Given the description of an element on the screen output the (x, y) to click on. 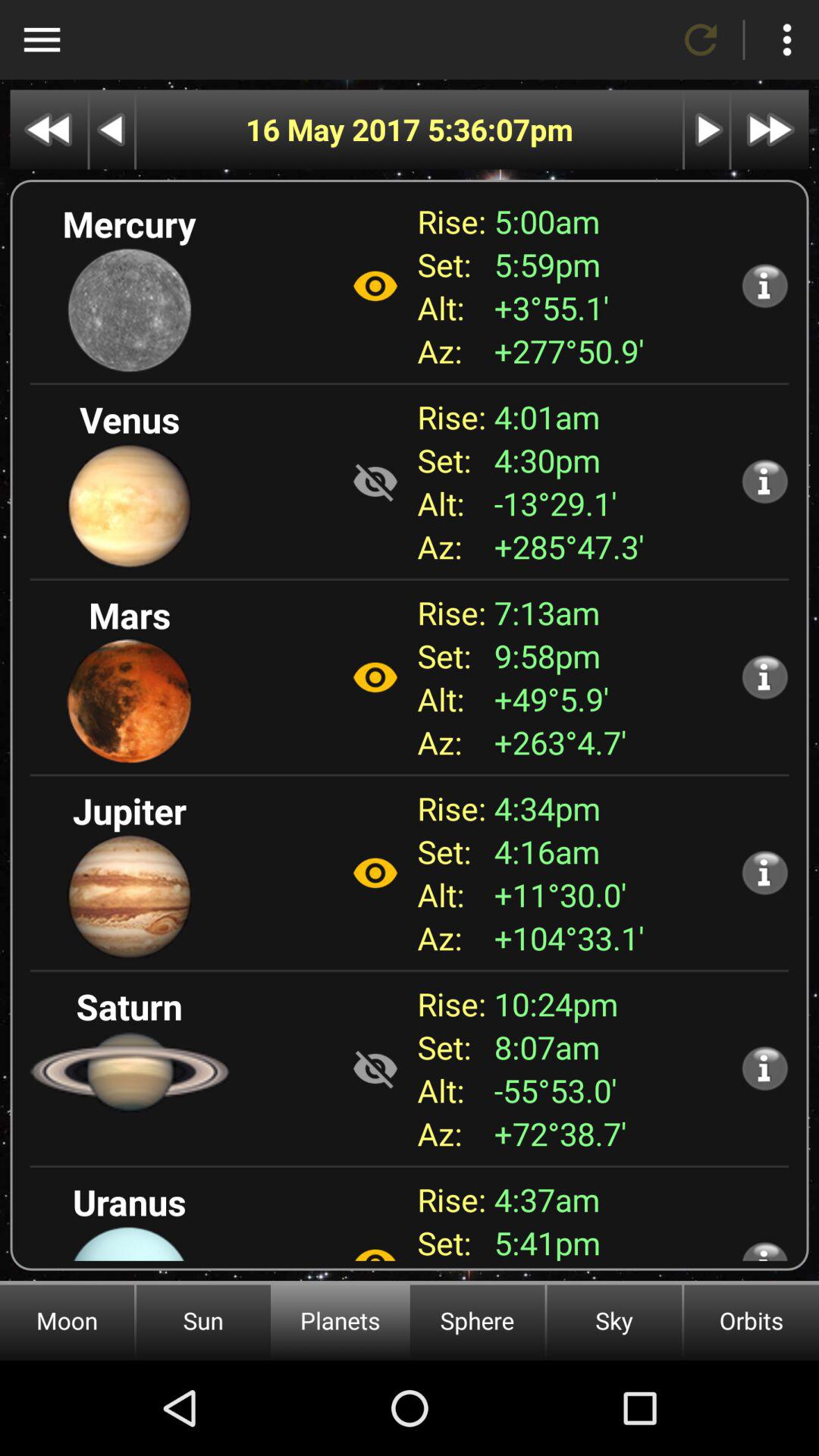
hide planet (375, 481)
